Given the description of an element on the screen output the (x, y) to click on. 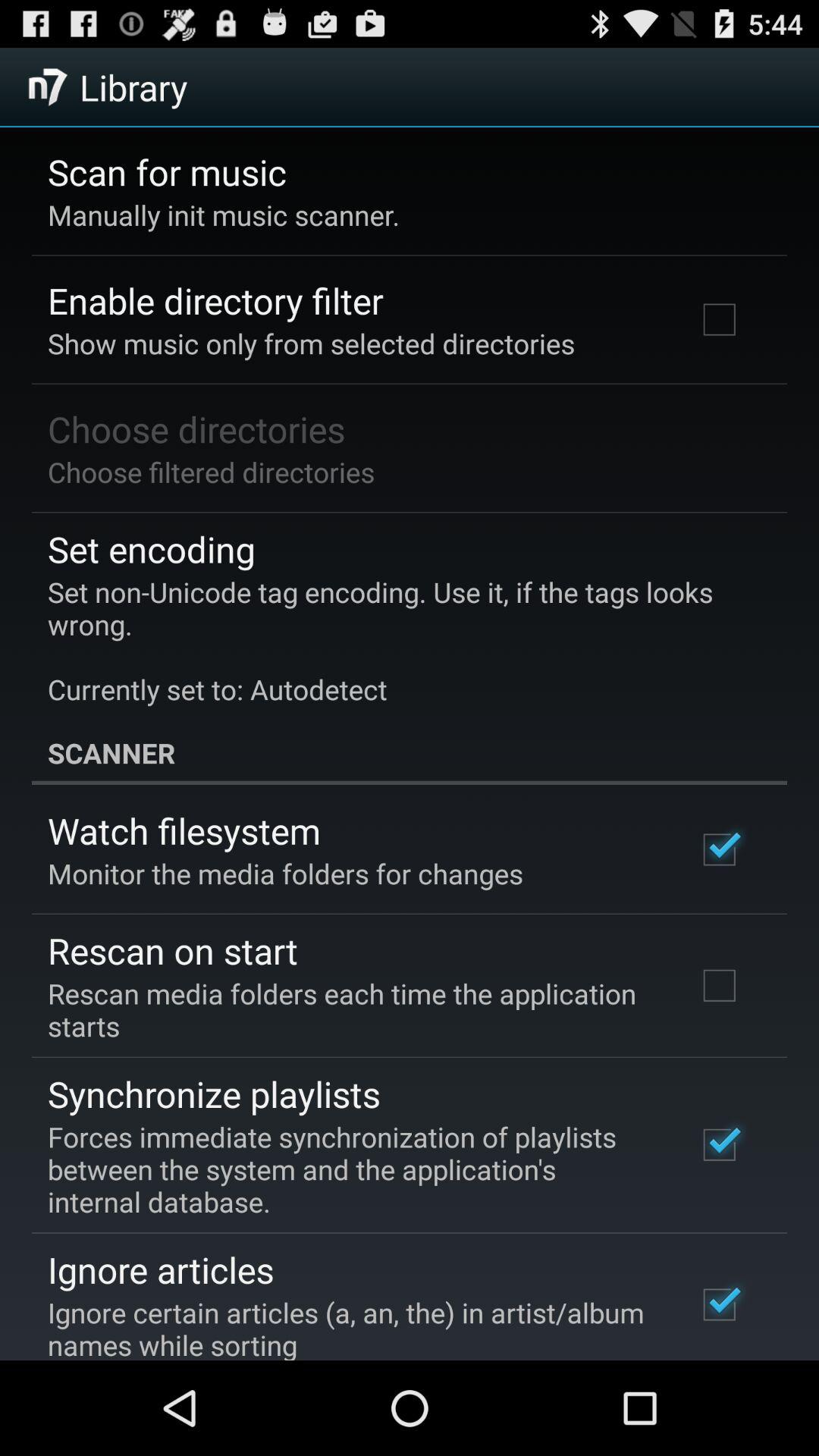
jump to the manually init music icon (223, 214)
